Given the description of an element on the screen output the (x, y) to click on. 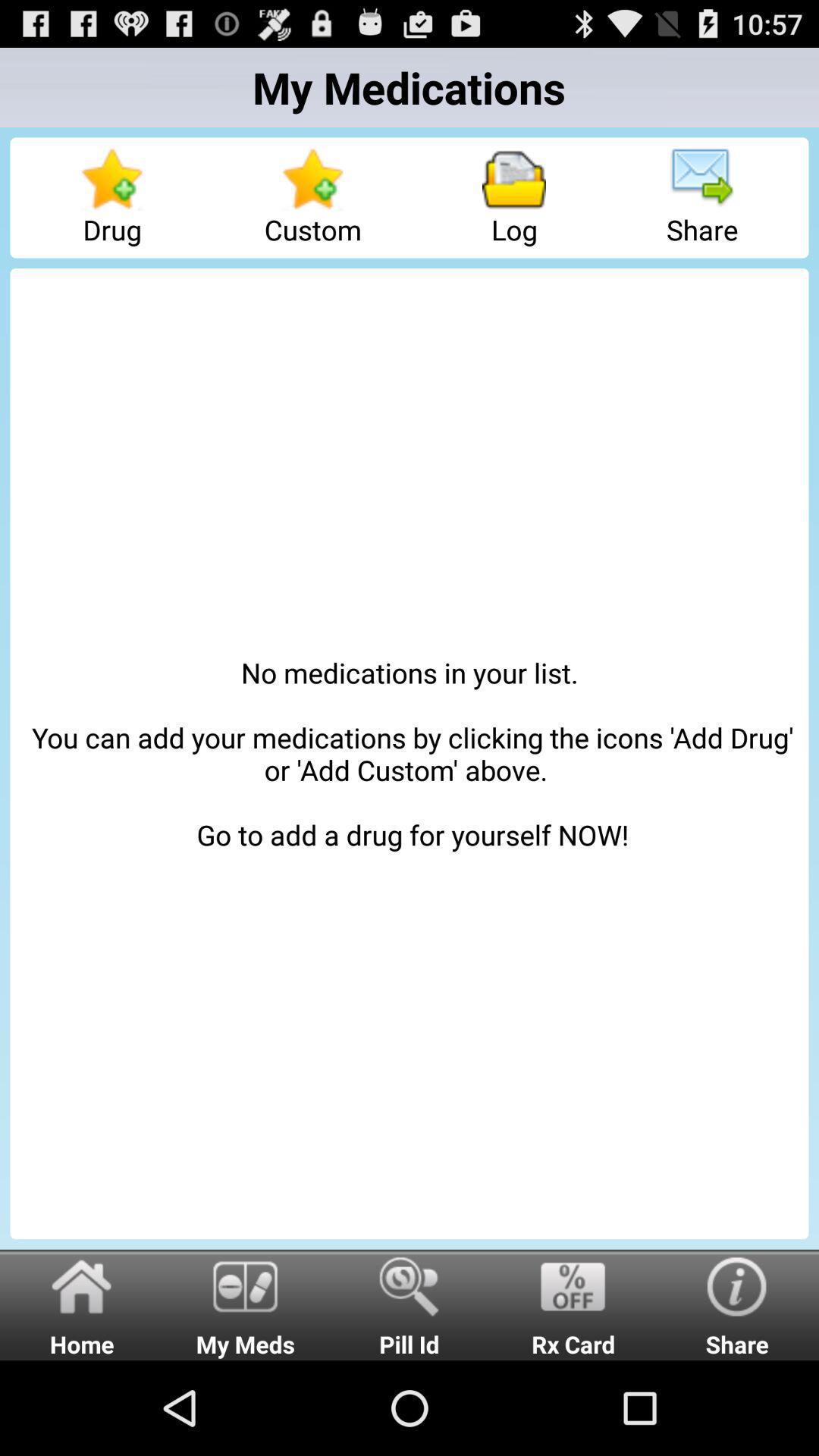
press icon below no medications in icon (81, 1304)
